Given the description of an element on the screen output the (x, y) to click on. 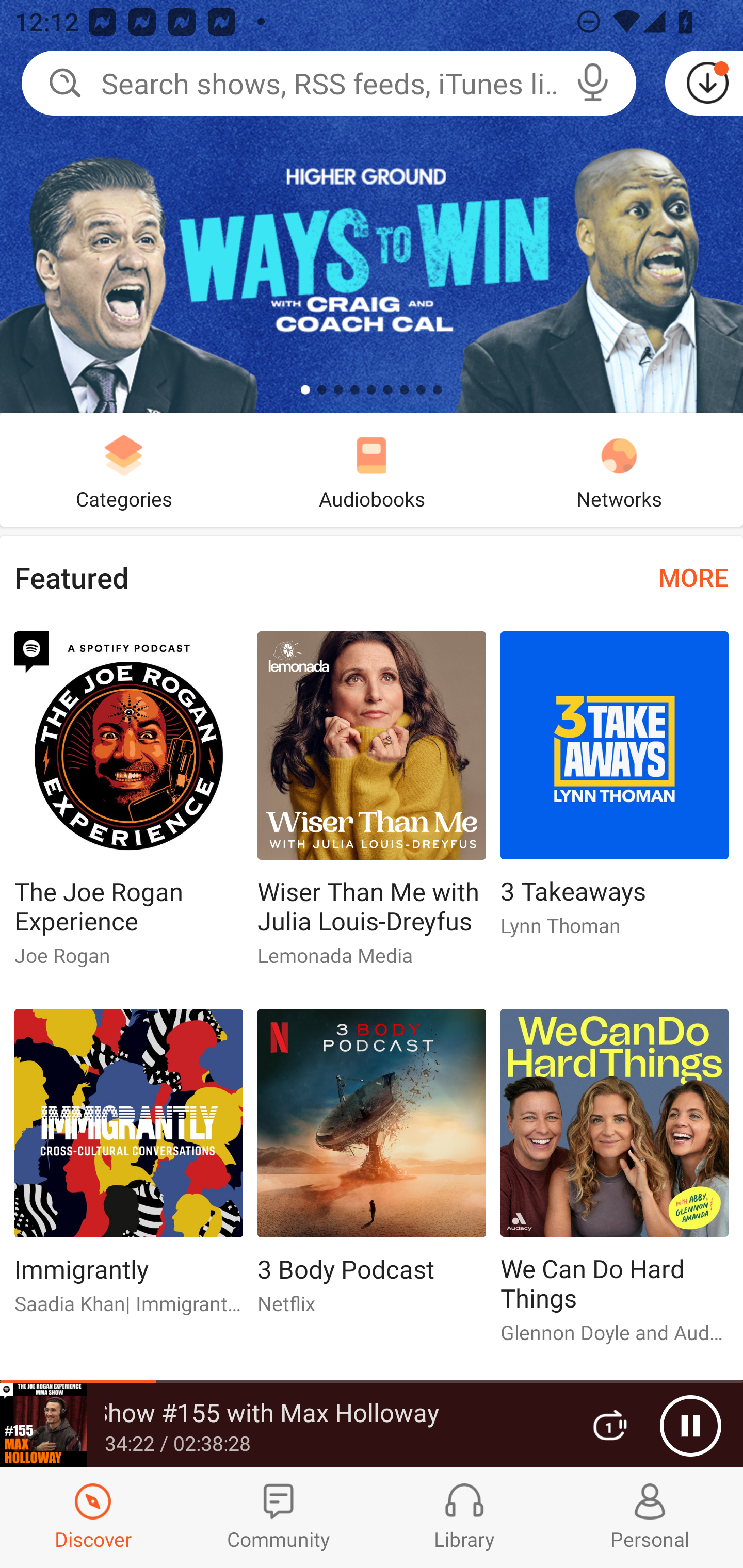
Ways To Win (371, 206)
Categories (123, 469)
Audiobooks (371, 469)
Networks (619, 469)
MORE (693, 576)
3 Takeaways 3 Takeaways Lynn Thoman (614, 792)
3 Body Podcast 3 Body Podcast Netflix (371, 1169)
Pause (690, 1425)
Discover (92, 1517)
Community (278, 1517)
Library (464, 1517)
Profiles and Settings Personal (650, 1517)
